Given the description of an element on the screen output the (x, y) to click on. 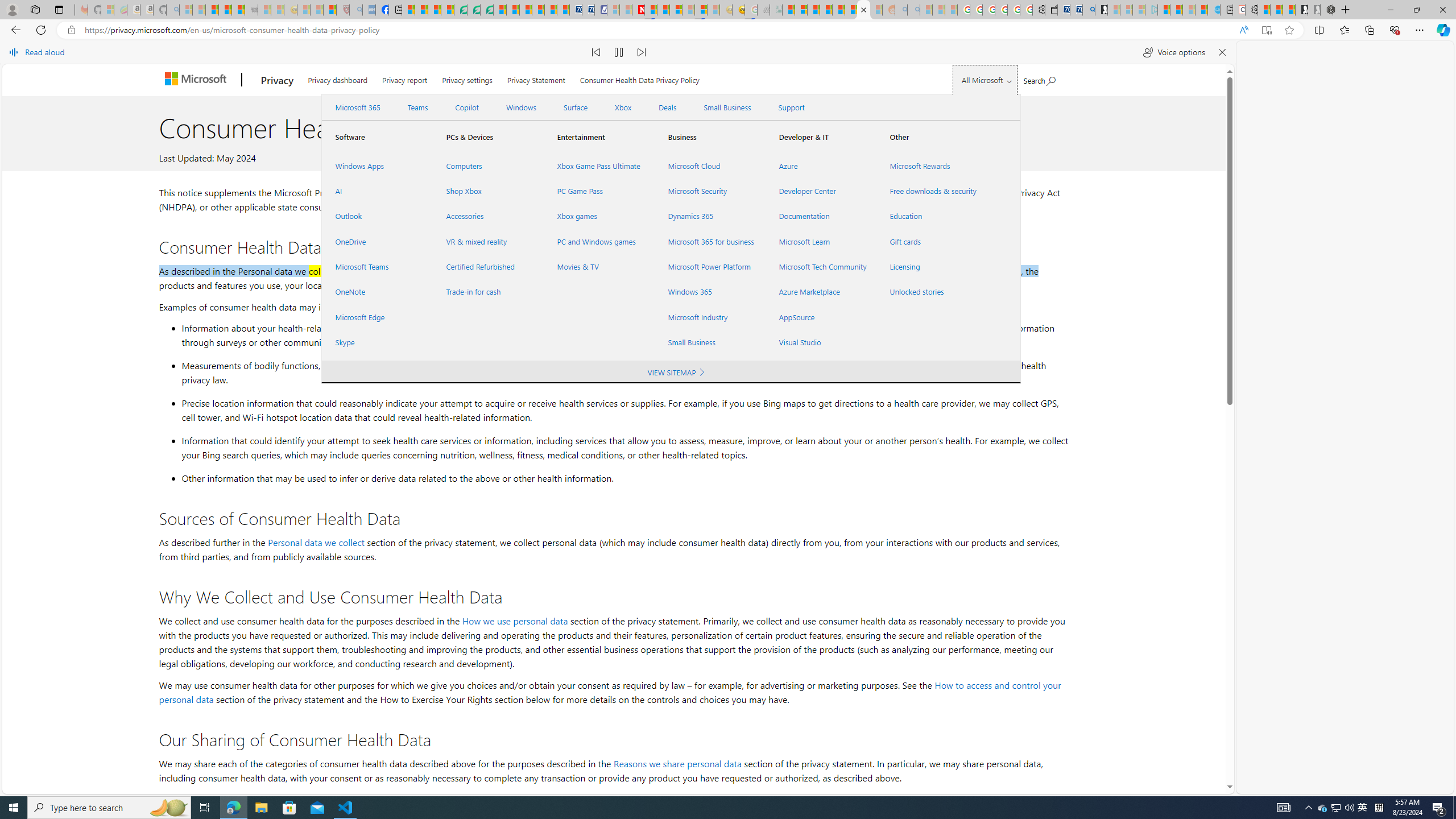
Azure Marketplace (820, 291)
LendingTree - Compare Lenders (460, 9)
PC Game Pass (599, 190)
Gift cards (931, 240)
Support (791, 107)
Xbox games (599, 216)
Microsoft Industry (709, 317)
Trusted Community Engagement and Contributions | Guidelines (650, 9)
Consumer Health Data Privacy Policy (639, 77)
Microsoft Word - consumer-privacy address update 2.2021 (486, 9)
